Given the description of an element on the screen output the (x, y) to click on. 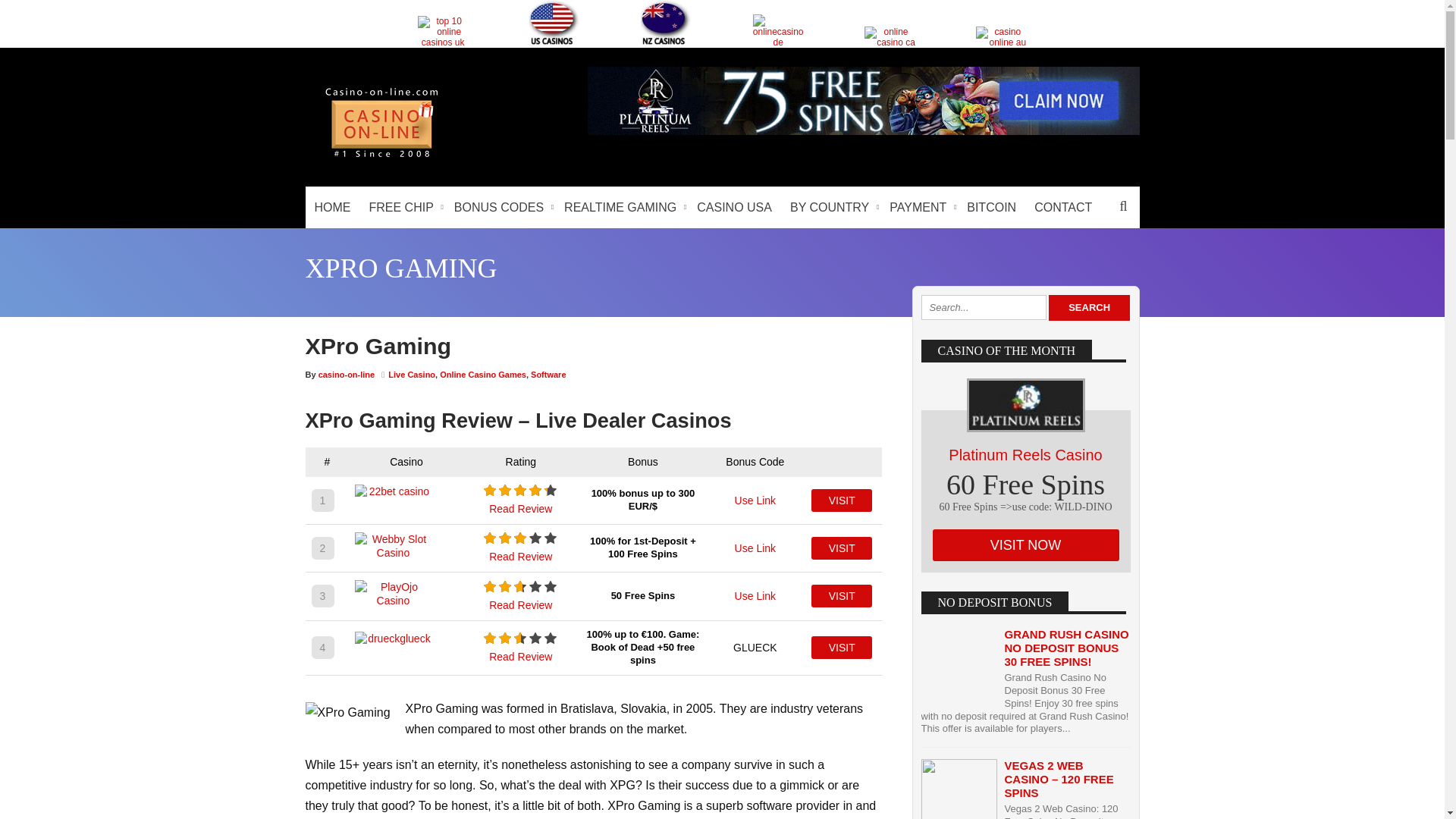
US Casinos (554, 22)
Search (1089, 307)
HOME (331, 207)
CA Casino (889, 36)
Posts by casino-on-line (346, 374)
Casino-on-line.com (380, 156)
DE Casino (777, 30)
Search (1089, 307)
Grand Rush Casino No Deposit Bonus 30 Free Spins! (1066, 648)
AU Casinos (1000, 36)
UK Casinos (442, 31)
FREE CHIP (401, 207)
NZ Casinos (665, 22)
